Given the description of an element on the screen output the (x, y) to click on. 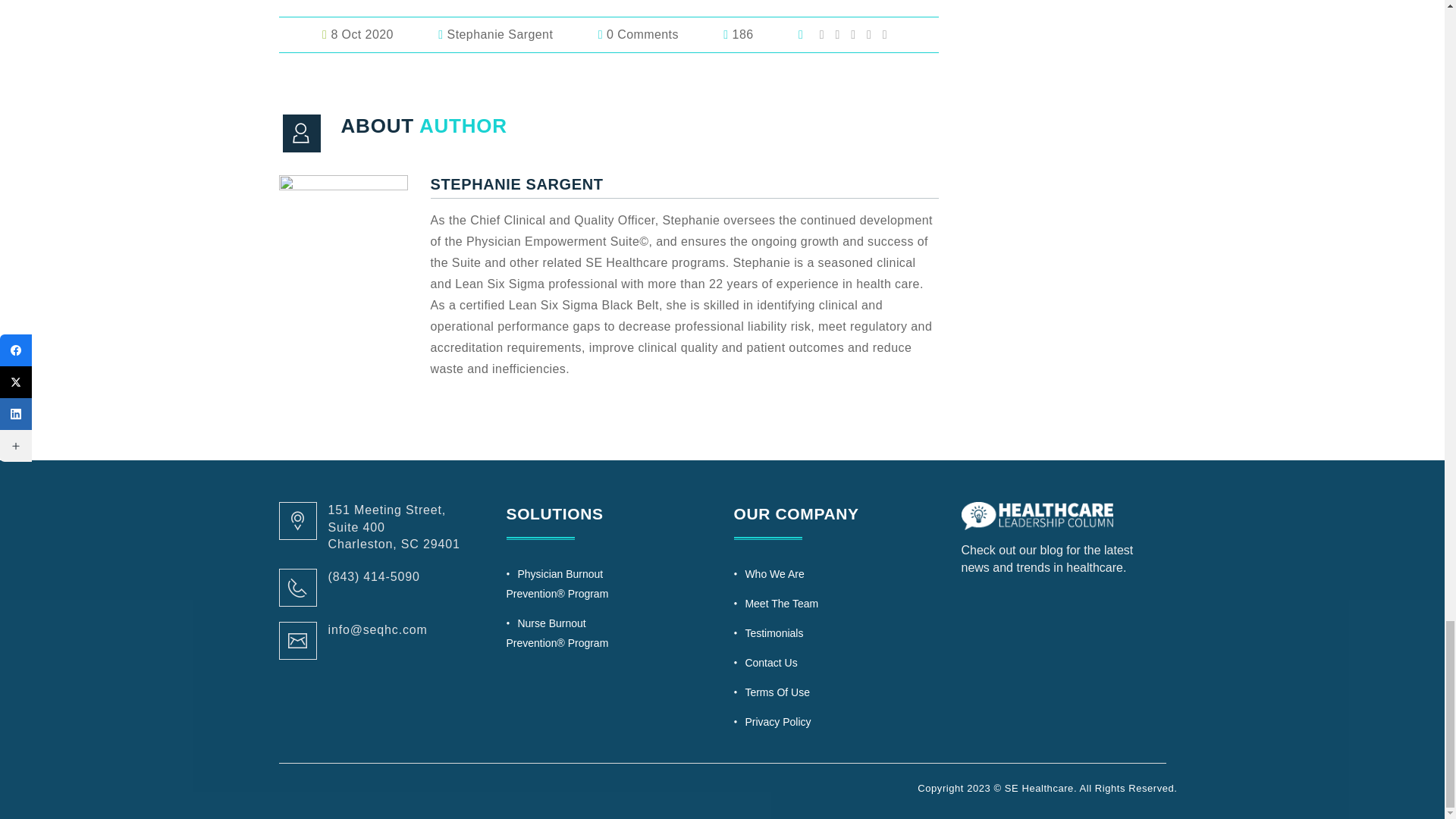
Stephanie Sargent (516, 33)
Stephanie Sargent (516, 33)
0 Comments (659, 33)
186 (758, 33)
